Given the description of an element on the screen output the (x, y) to click on. 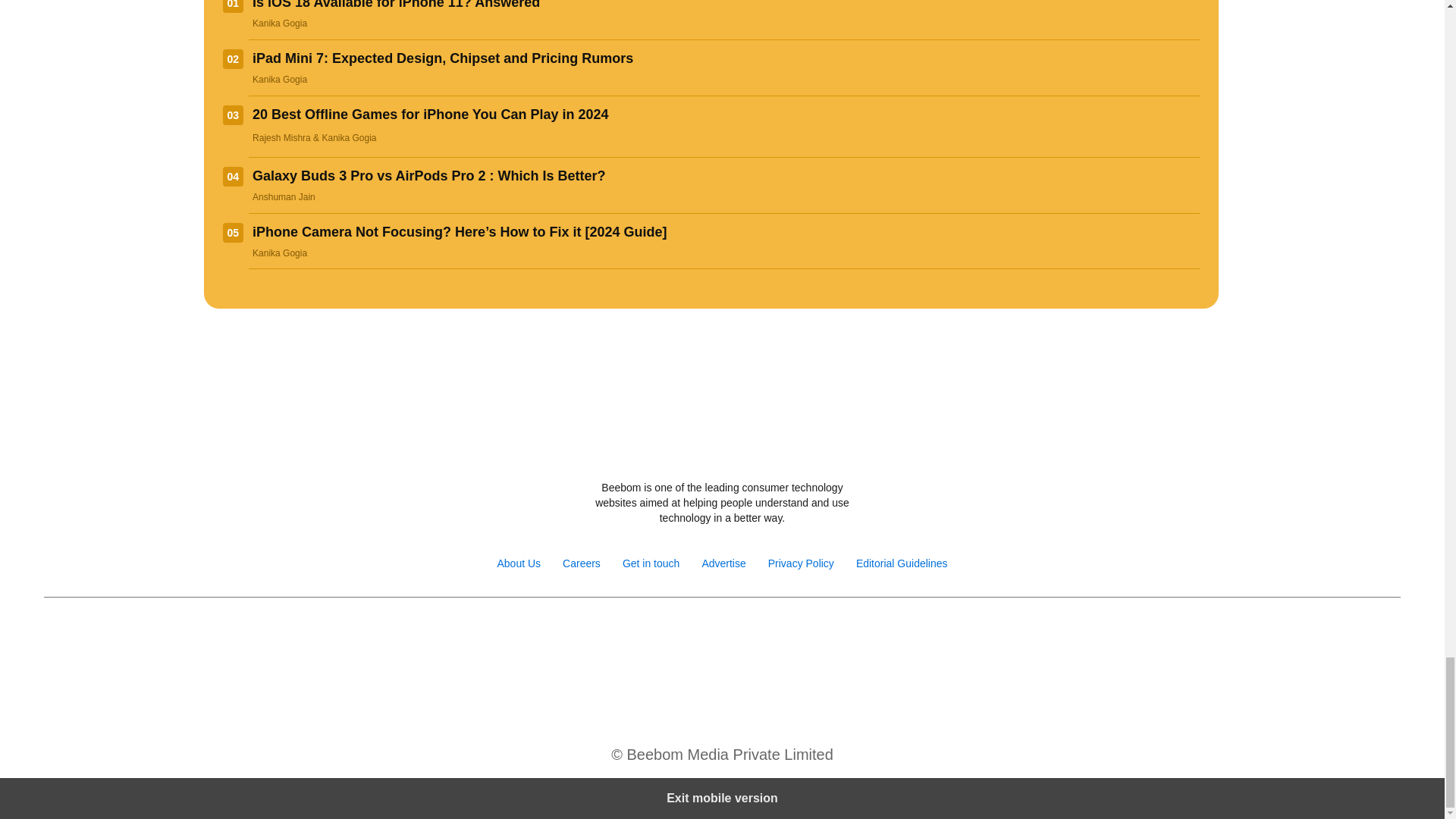
Instagram (672, 635)
Facebook (640, 635)
Beebom (721, 447)
